Given the description of an element on the screen output the (x, y) to click on. 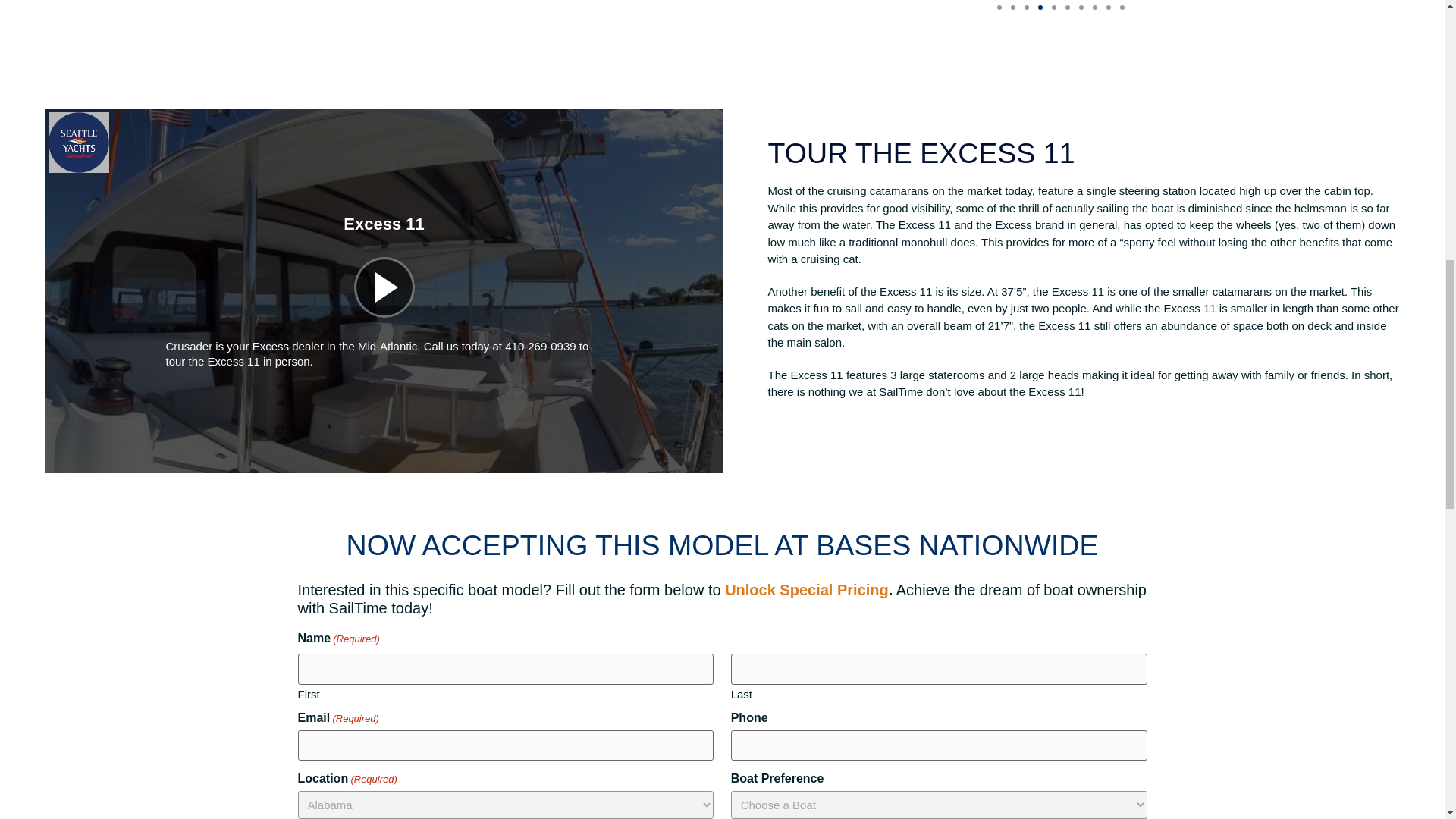
FareHarbor (1342, 64)
